Given the description of an element on the screen output the (x, y) to click on. 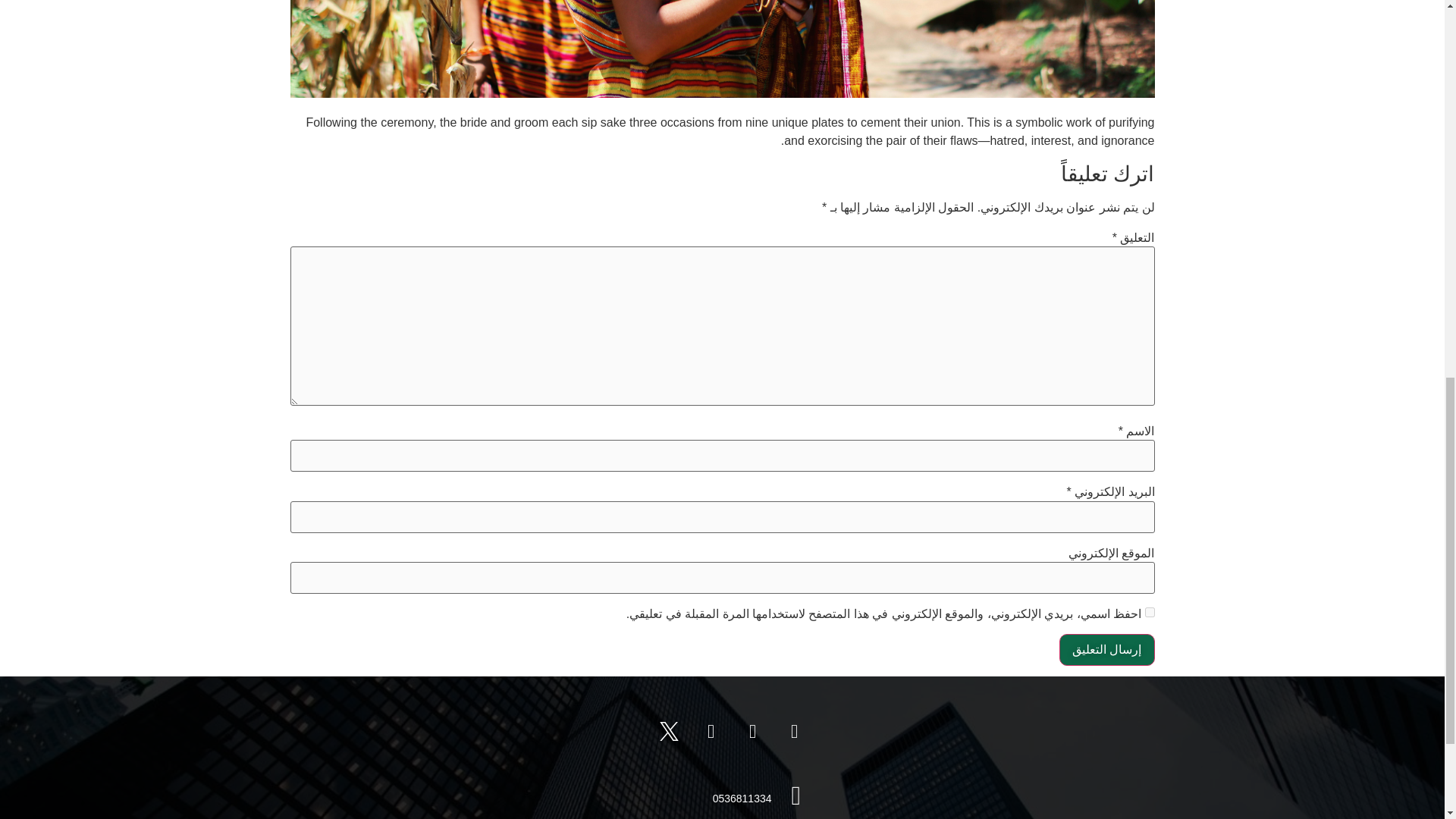
yes (1149, 612)
